Given the description of an element on the screen output the (x, y) to click on. 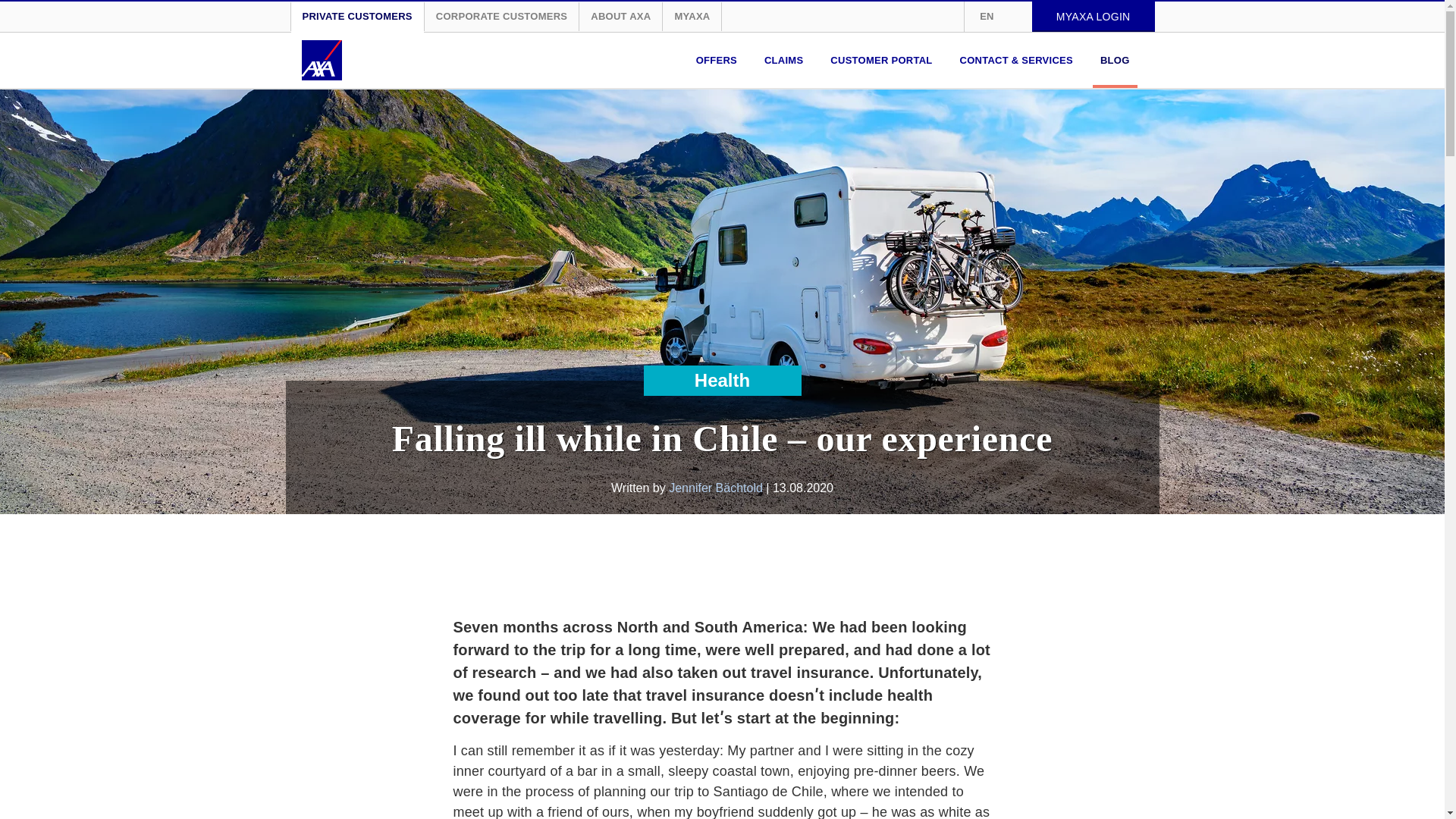
ABOUT AXA (620, 16)
MYAXA LOGIN (1093, 16)
MYAXA (691, 16)
OFFERS (716, 59)
CORPORATE CUSTOMERS (501, 16)
PRIVATE CUSTOMERS (357, 17)
CLAIMS (783, 59)
EN (997, 16)
